Given the description of an element on the screen output the (x, y) to click on. 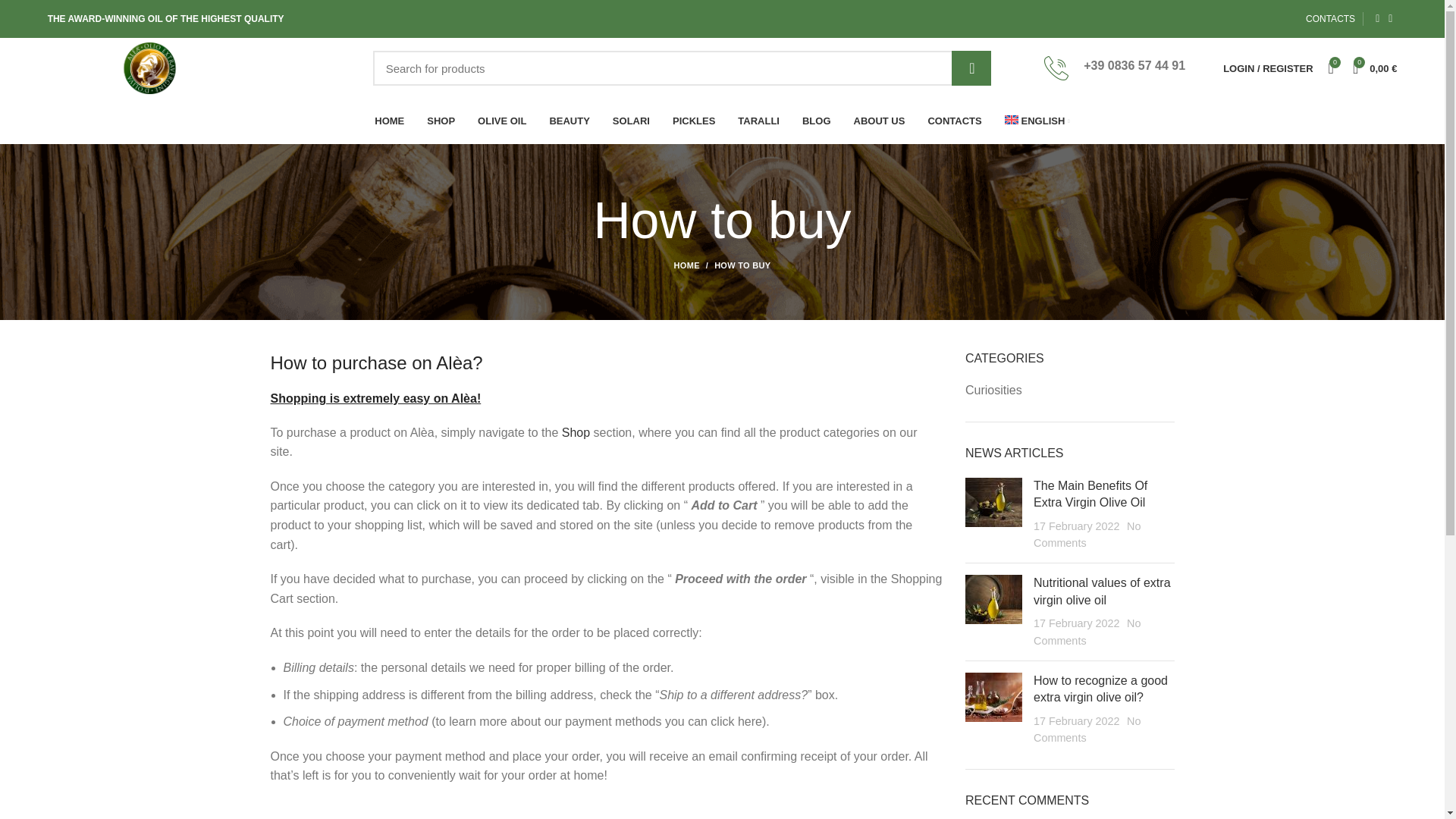
SOLARI (631, 121)
call (1055, 68)
How to recognize a good extra virgin olive oil? (1100, 688)
Permalink to The Main Benefits Of Extra Virgin Olive Oil (1090, 493)
Nutritional values of extra virgin olive oil (1101, 591)
No Comments (1086, 534)
SEARCH (971, 67)
Curiosities (994, 390)
TARALLI (758, 121)
BLOG (816, 121)
CONTACTS (1330, 19)
Permalink to Nutritional values of extra virgin olive oil (1101, 591)
The Main Benefits Of Extra Virgin Olive Oil (1090, 493)
English (1036, 121)
BEAUTY (568, 121)
